Given the description of an element on the screen output the (x, y) to click on. 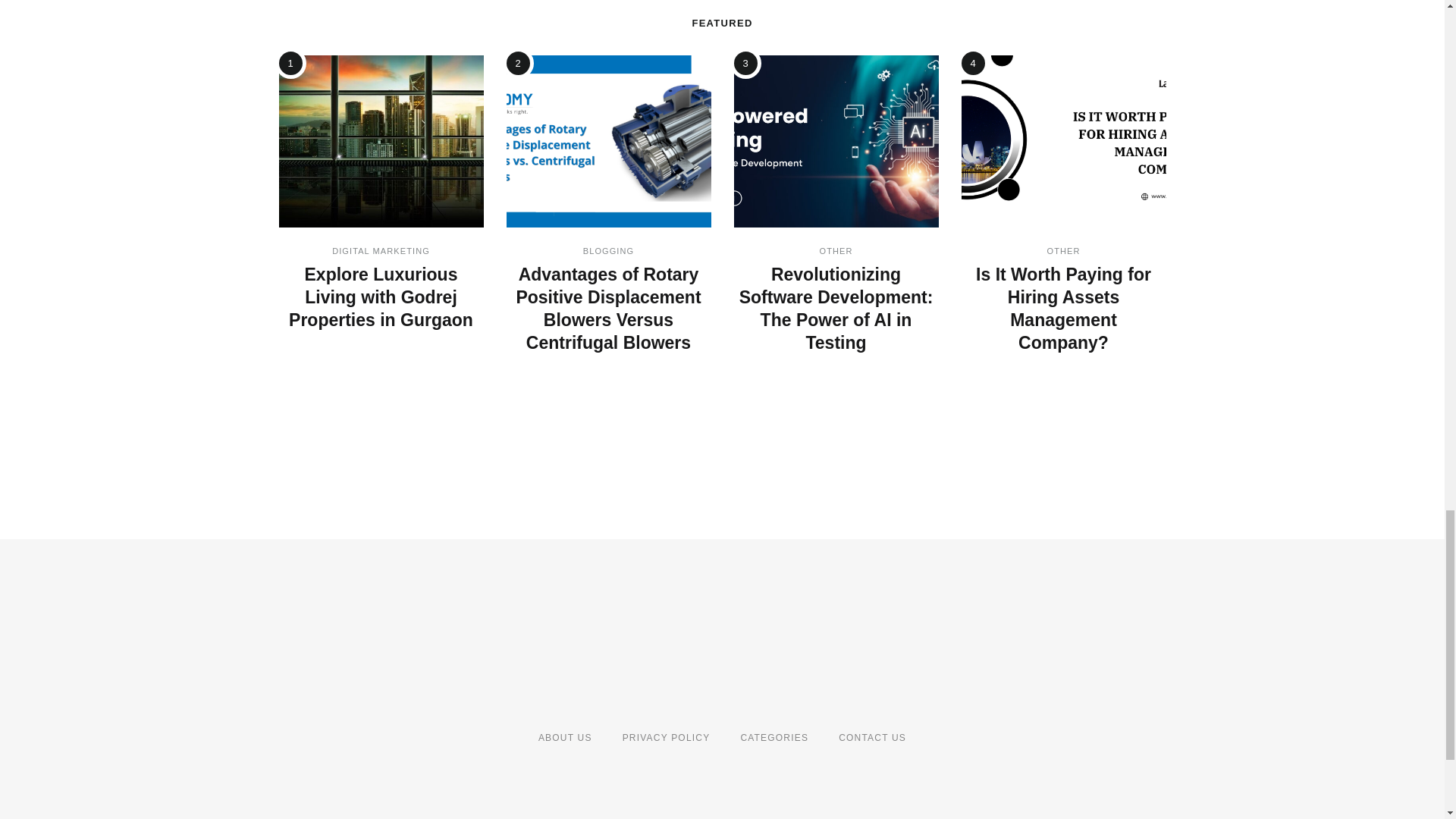
OTHER (834, 250)
OTHER (1063, 250)
CONTACT US (872, 737)
PRIVACY POLICY (666, 737)
CATEGORIES (774, 737)
DIGITAL MARKETING (380, 250)
Is It Worth Paying for Hiring Assets Management Company? (1063, 308)
Explore Luxurious Living with Godrej Properties in Gurgaon (380, 297)
ABOUT US (564, 737)
